Given the description of an element on the screen output the (x, y) to click on. 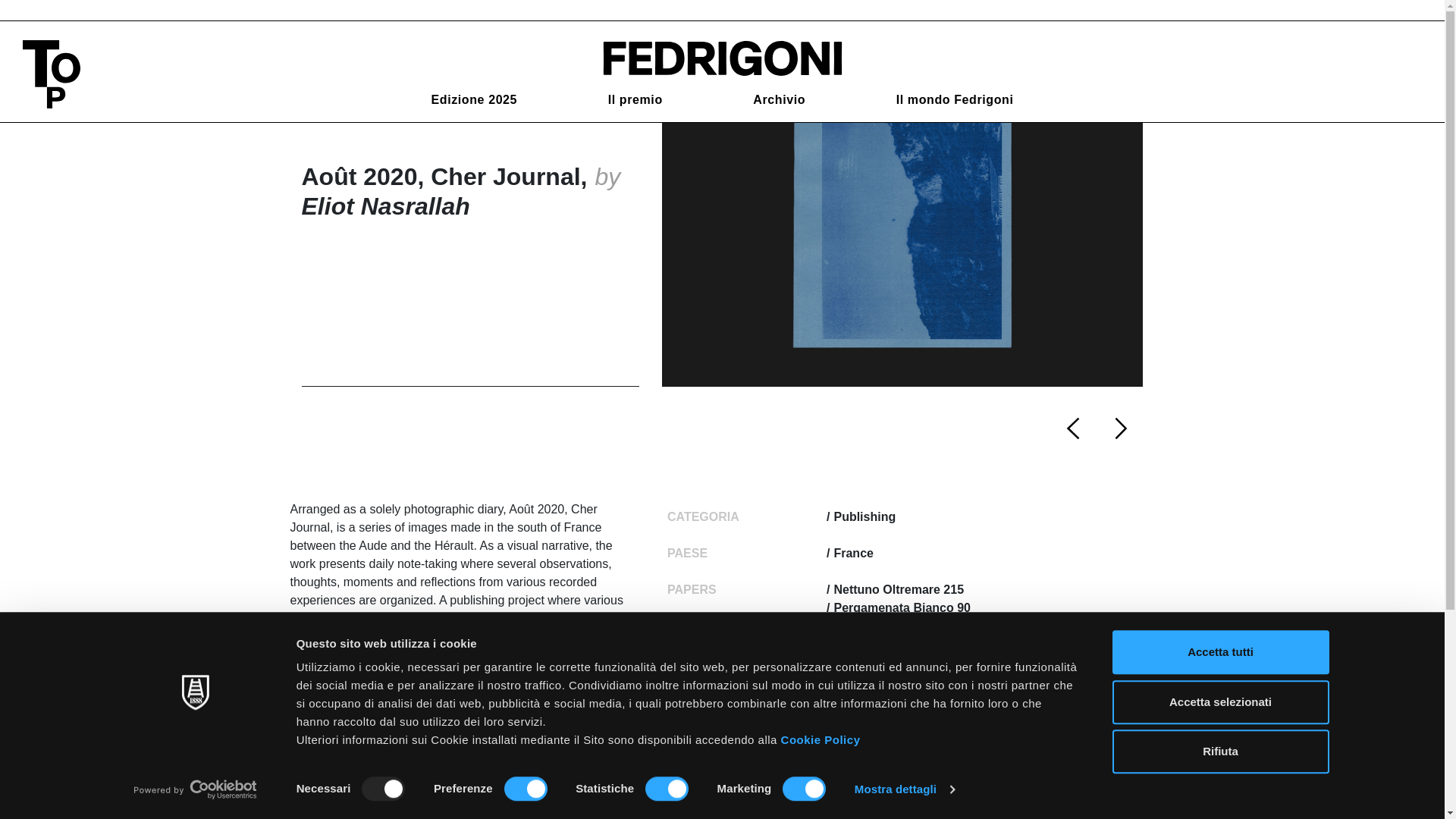
Rifiuta (1219, 751)
Edizione 2025 (473, 99)
Fedrigoni Top Award (721, 56)
Accetta selezionati (1219, 701)
Mostra dettagli (904, 789)
Cookie Policy (820, 739)
